Given the description of an element on the screen output the (x, y) to click on. 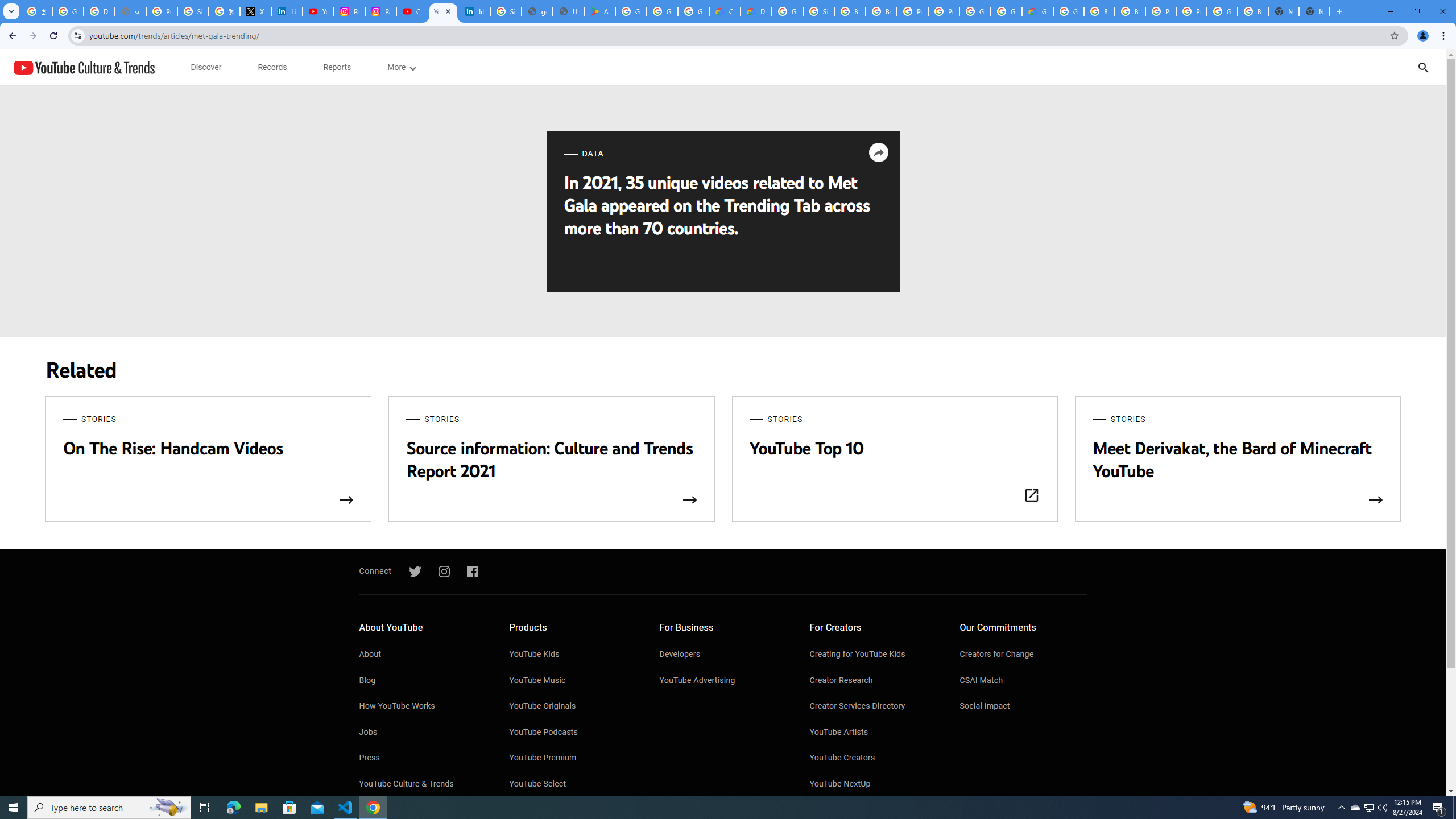
subnav-Discover menupopup (205, 67)
YouTube Advertising (723, 681)
Sign in - Google Accounts (818, 11)
Creating for YouTube Kids (873, 655)
subnav-Discover menupopup (205, 67)
Browse Chrome as a guest - Computer - Google Chrome Help (881, 11)
YouTube Culture & Trends (422, 784)
New Tab (1314, 11)
Toggle share toolbar open/closed (877, 152)
